Given the description of an element on the screen output the (x, y) to click on. 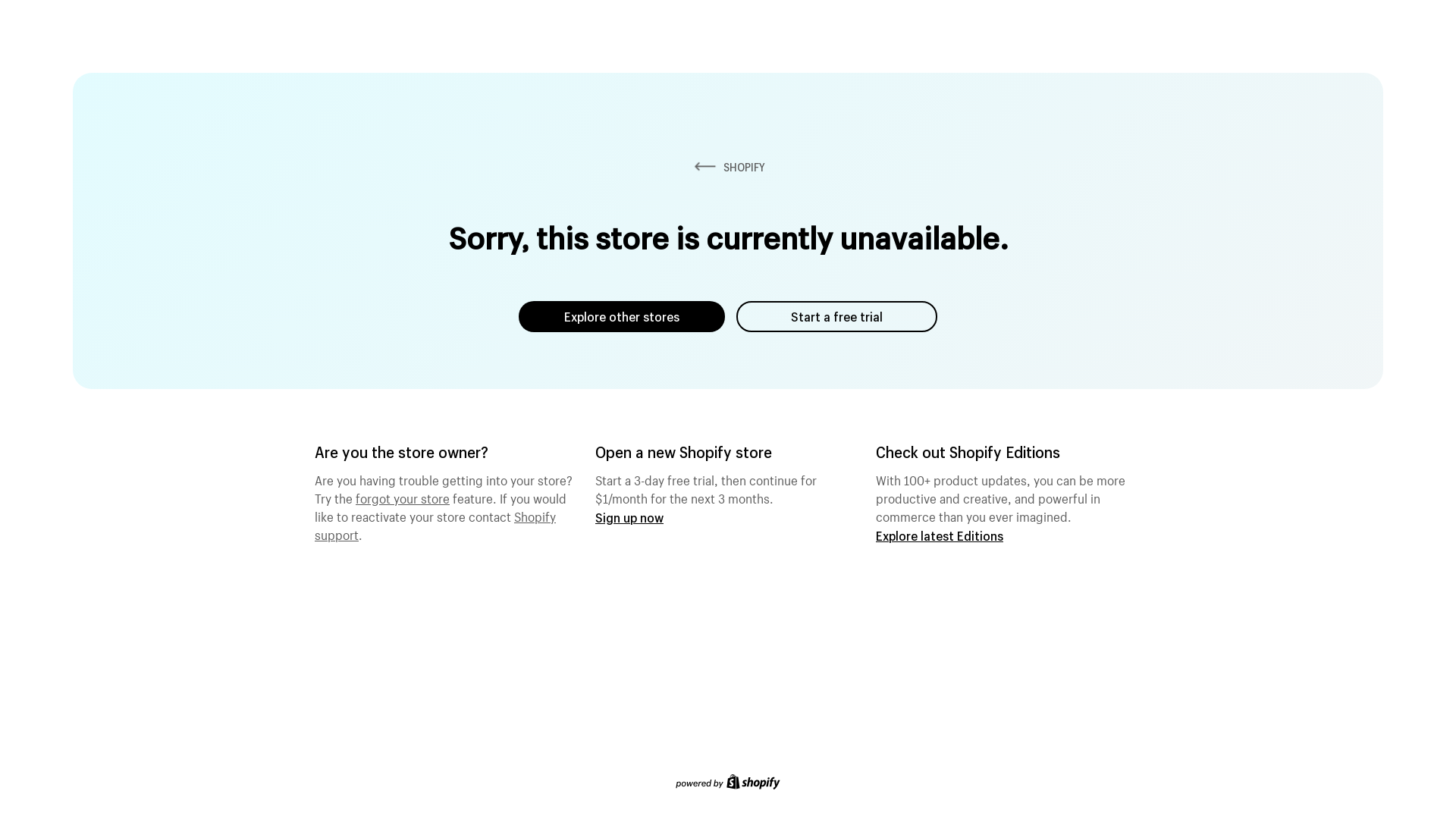
forgot your store Element type: text (402, 496)
Sign up now Element type: text (629, 517)
SHOPIFY Element type: text (727, 167)
Explore latest Editions Element type: text (939, 535)
Explore other stores Element type: text (621, 316)
Shopify support Element type: text (434, 523)
Start a free trial Element type: text (836, 316)
